Given the description of an element on the screen output the (x, y) to click on. 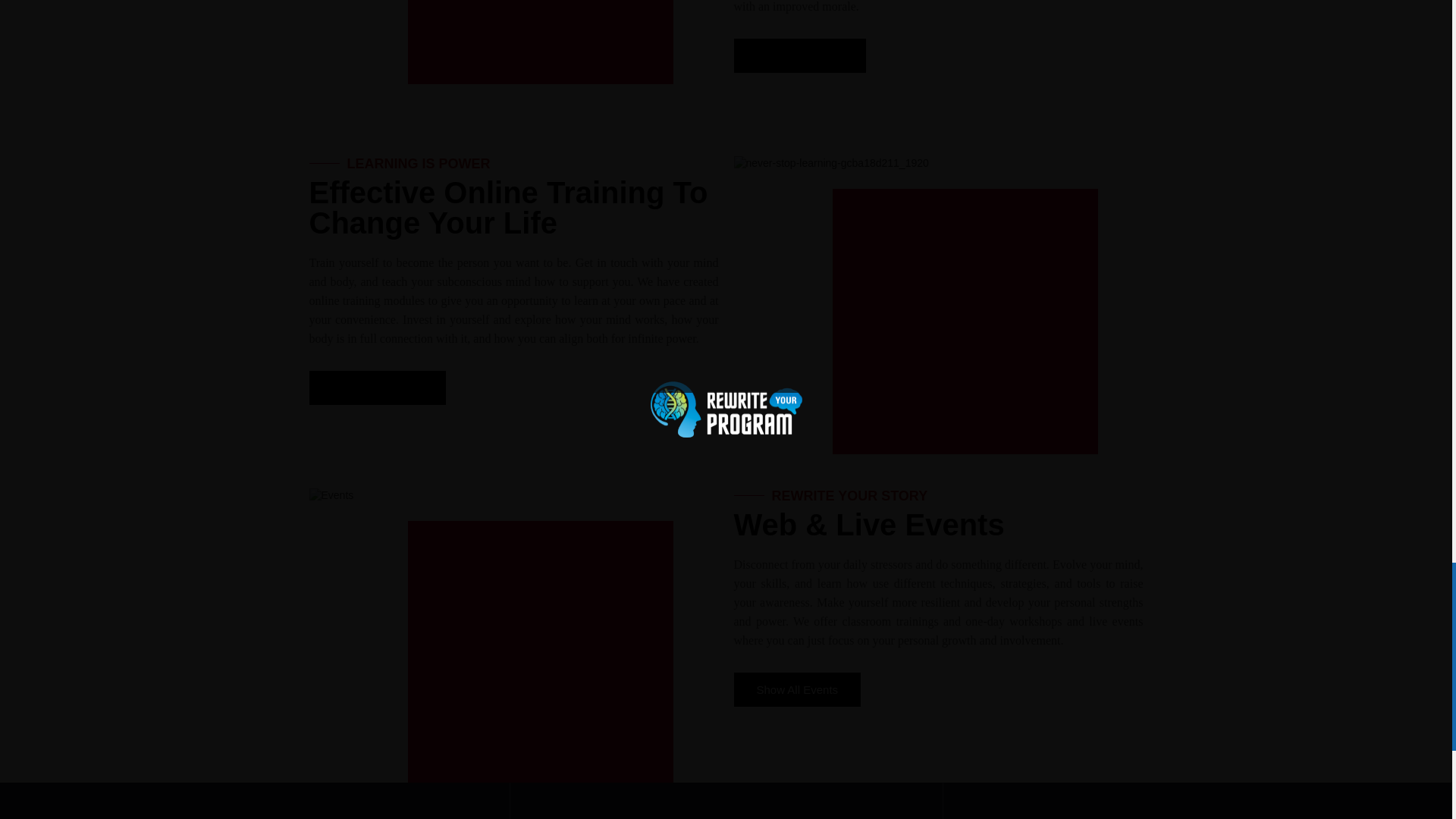
Events (330, 495)
See Our Trainings (377, 387)
Go To Coachings (799, 55)
Show All Events (797, 689)
Effective Online Training To Change Your Life (507, 207)
